Given the description of an element on the screen output the (x, y) to click on. 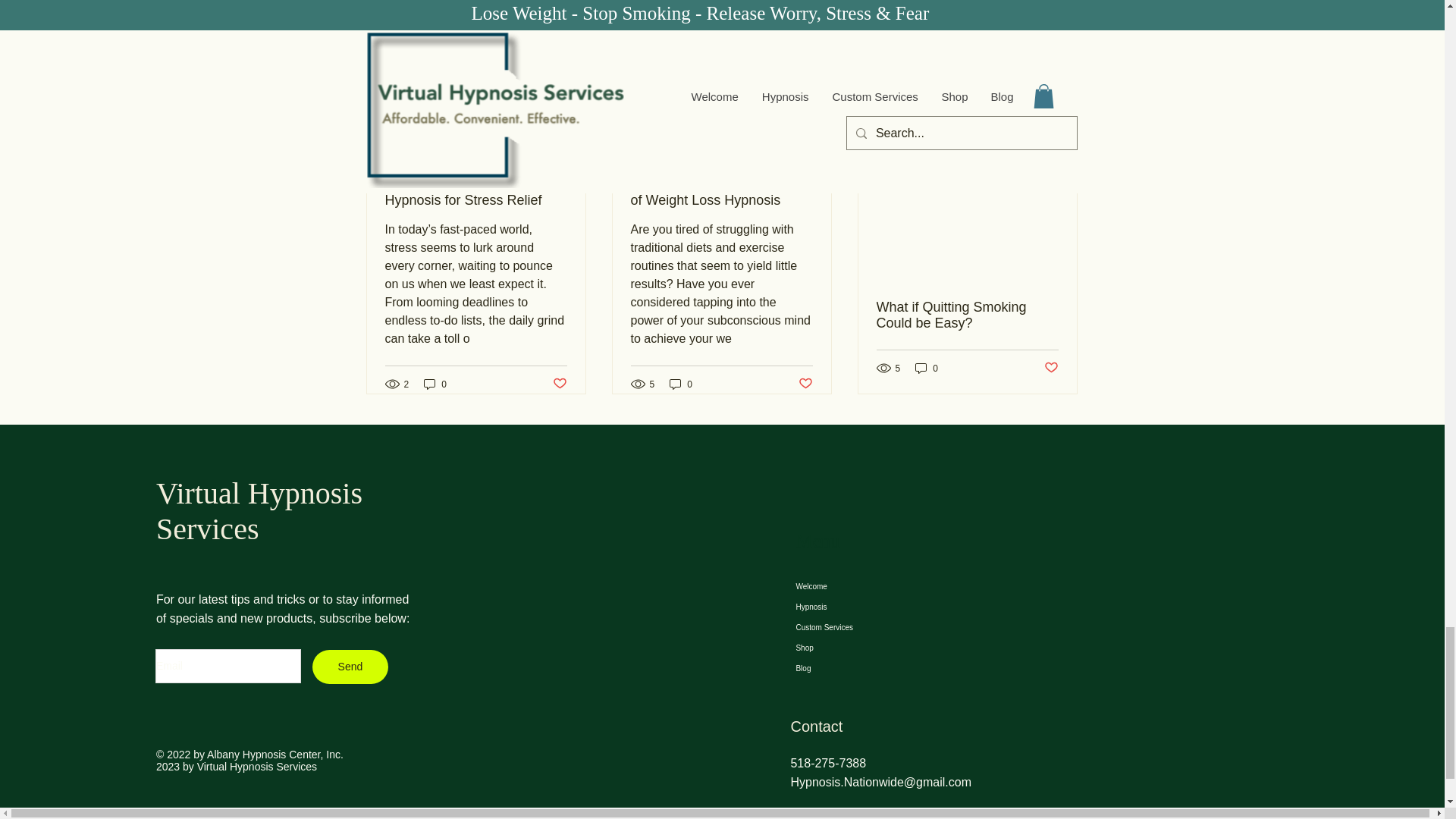
What if Quitting Smoking Could be Easy? (967, 315)
See All (1061, 131)
Post not marked as liked (995, 48)
Post not marked as liked (558, 383)
Lose Weight Now: The Power of Weight Loss Hypnosis (721, 192)
Welcome (862, 586)
Post not marked as liked (804, 383)
0 (681, 383)
Unveiling the Benefits of Hypnosis for Stress Relief (476, 192)
0 (435, 383)
Hypnosis (862, 607)
Custom Services (862, 627)
Send (350, 666)
0 (926, 368)
Post not marked as liked (1050, 367)
